Given the description of an element on the screen output the (x, y) to click on. 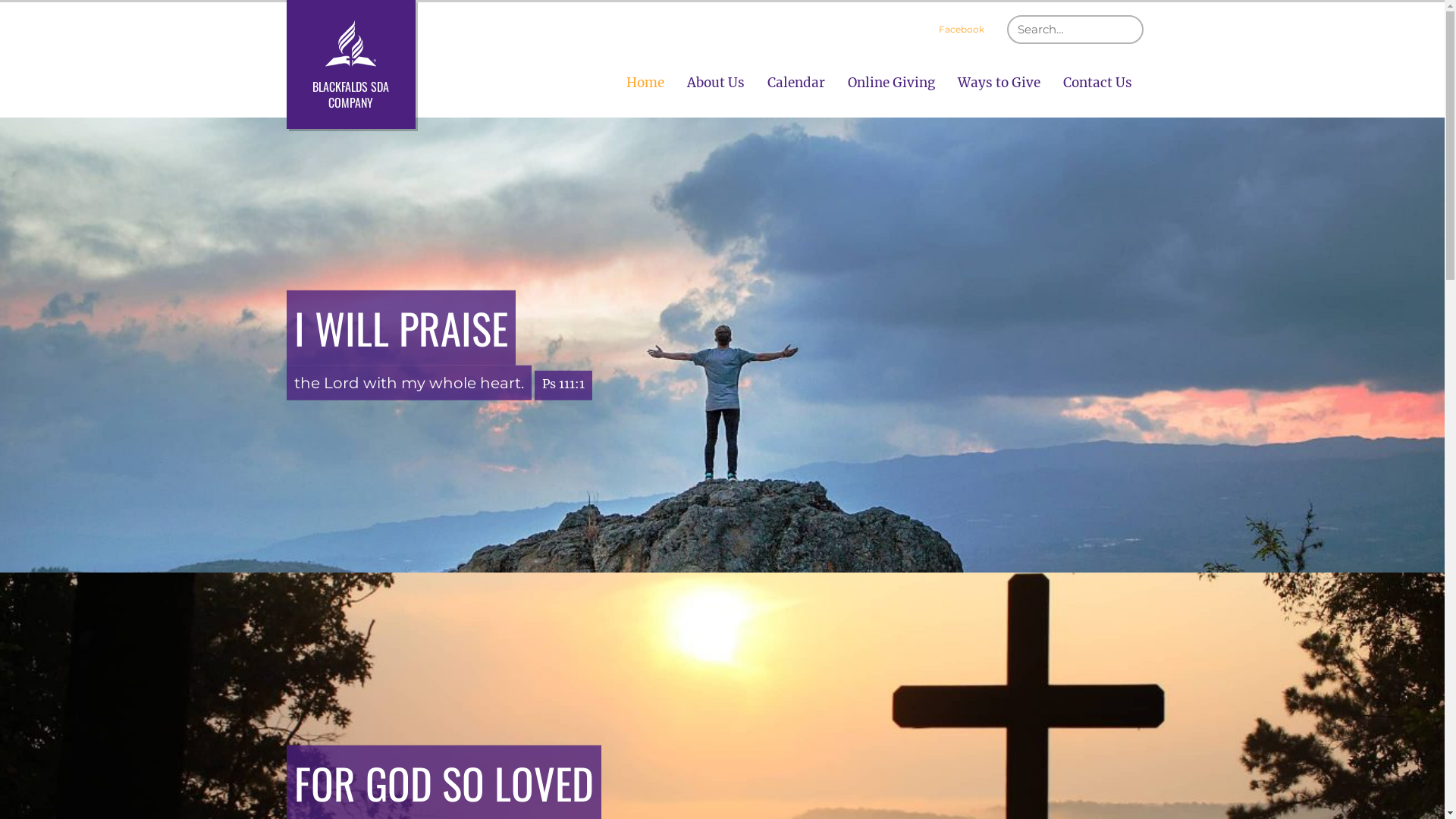
About Us Element type: text (714, 82)
Calendar Element type: text (795, 82)
SUBMIT Element type: text (1143, 15)
Facebook Element type: text (961, 29)
Contact Us Element type: text (1096, 82)
BLACKFALDS SDA COMPANY Element type: text (350, 64)
Ways to Give Element type: text (998, 82)
Home Element type: text (644, 82)
Online Giving Element type: text (890, 82)
